Given the description of an element on the screen output the (x, y) to click on. 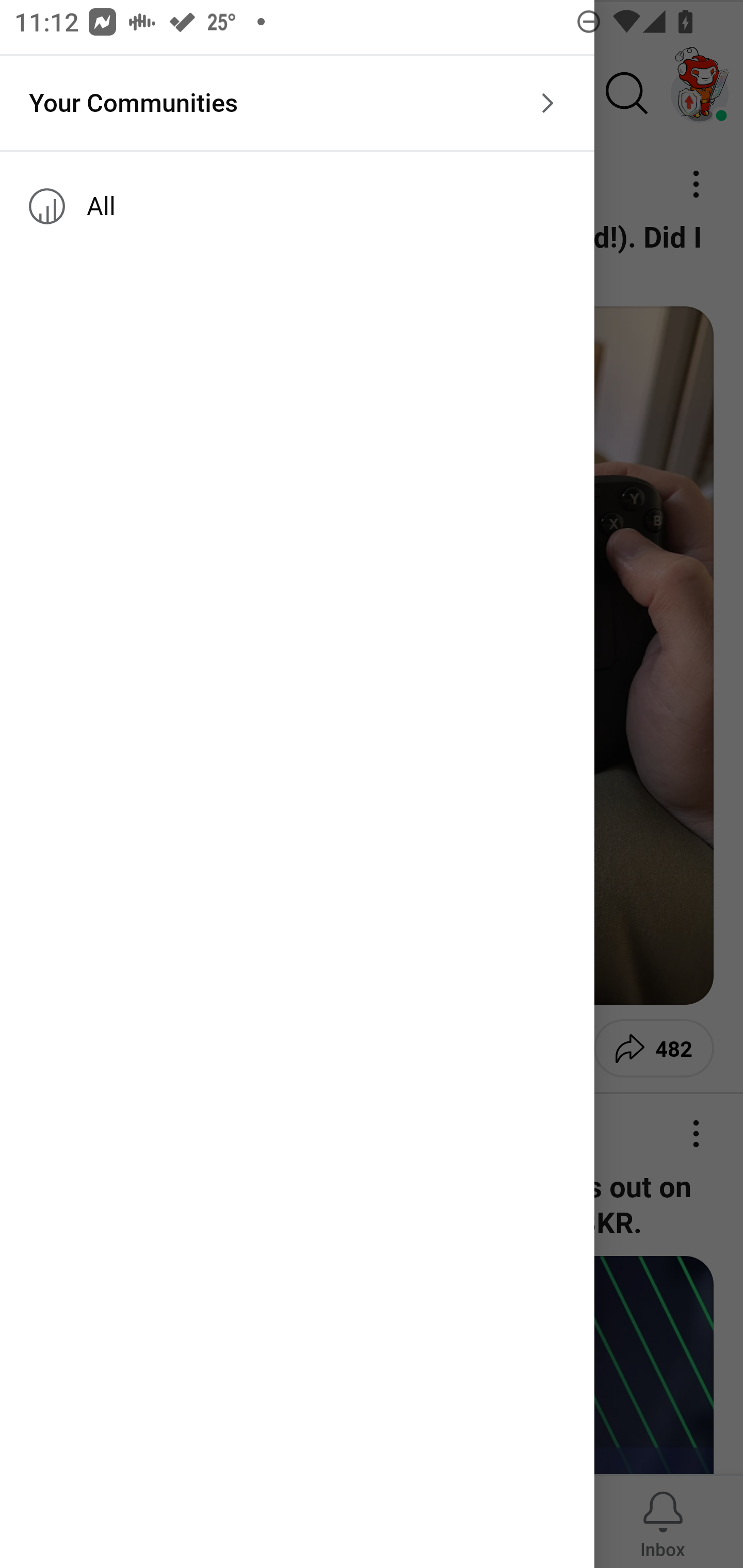
Your Communities (297, 103)
All (297, 206)
